Given the description of an element on the screen output the (x, y) to click on. 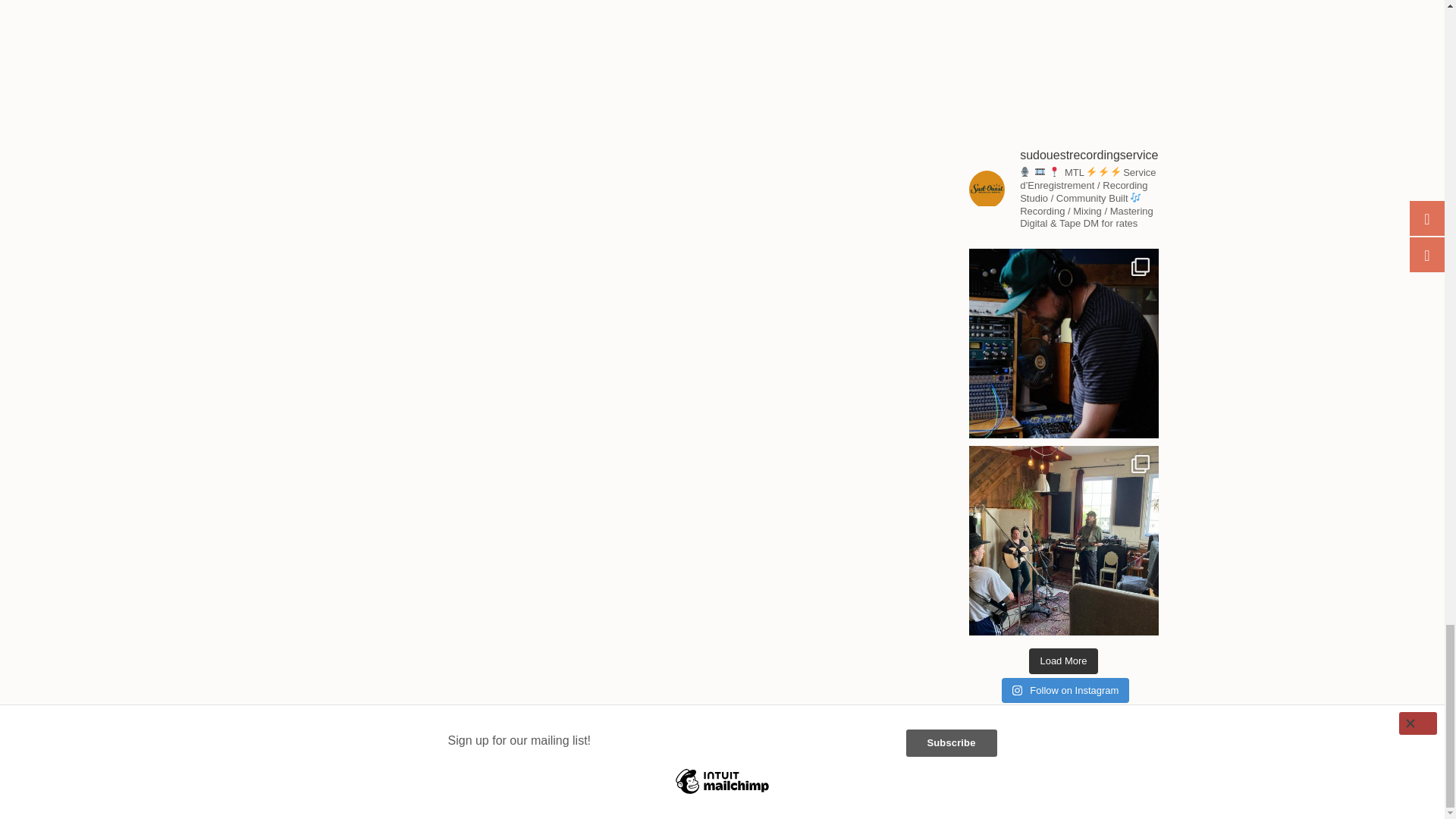
Send Us an Email (630, 801)
CONTACT (584, 801)
BANDCAMP (409, 801)
MERCH (471, 801)
Find Us on Facebook (642, 801)
Kaira (1165, 800)
HOME (293, 801)
Load More (1063, 661)
ARTISTS (345, 801)
Follow on Instagram (1065, 690)
EVENTS (525, 801)
